Given the description of an element on the screen output the (x, y) to click on. 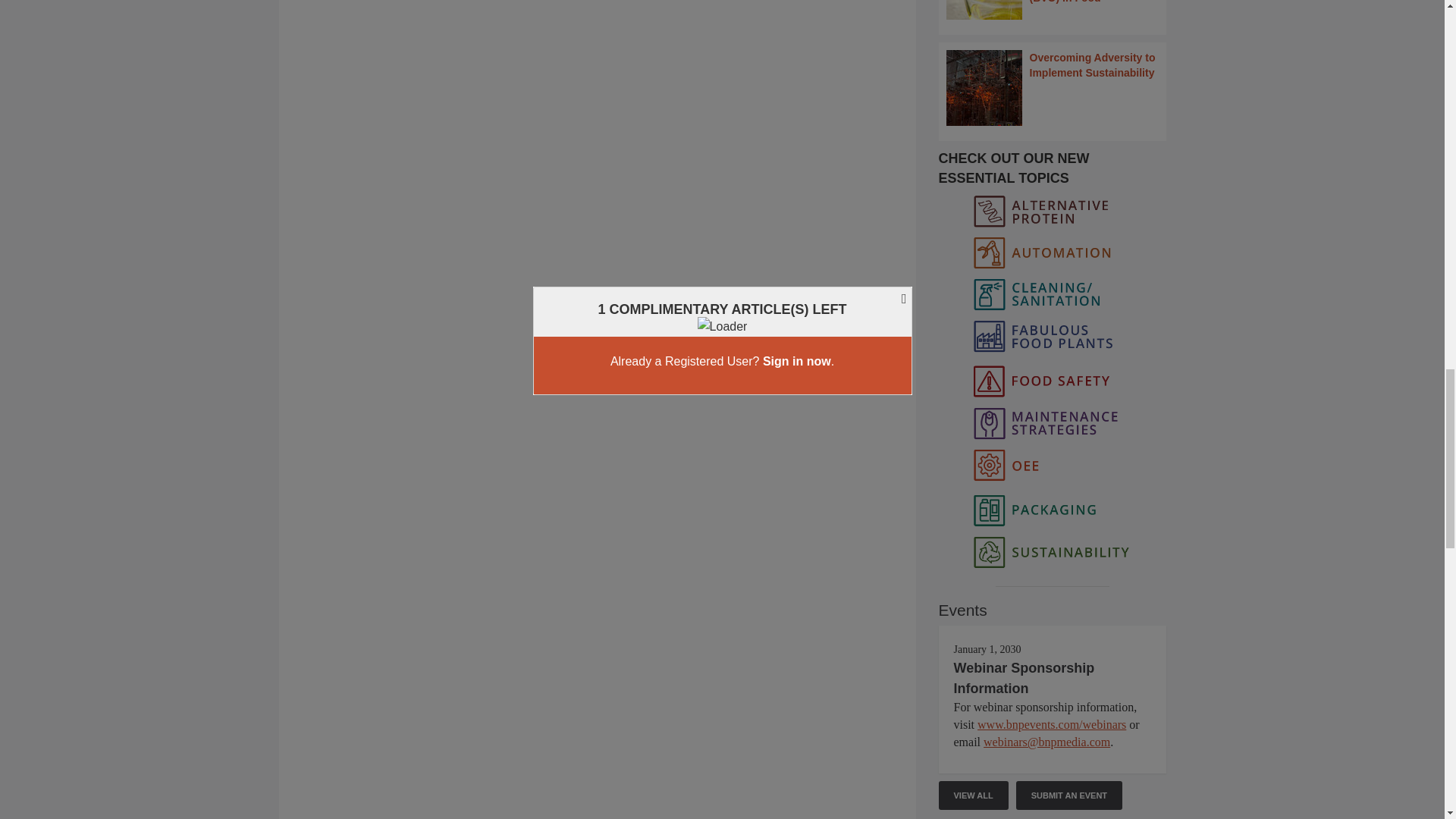
Interaction questions (597, 101)
Webinar Sponsorship Information (1023, 677)
Overcoming Adversity to Implement Sustainability  (1052, 87)
